Given the description of an element on the screen output the (x, y) to click on. 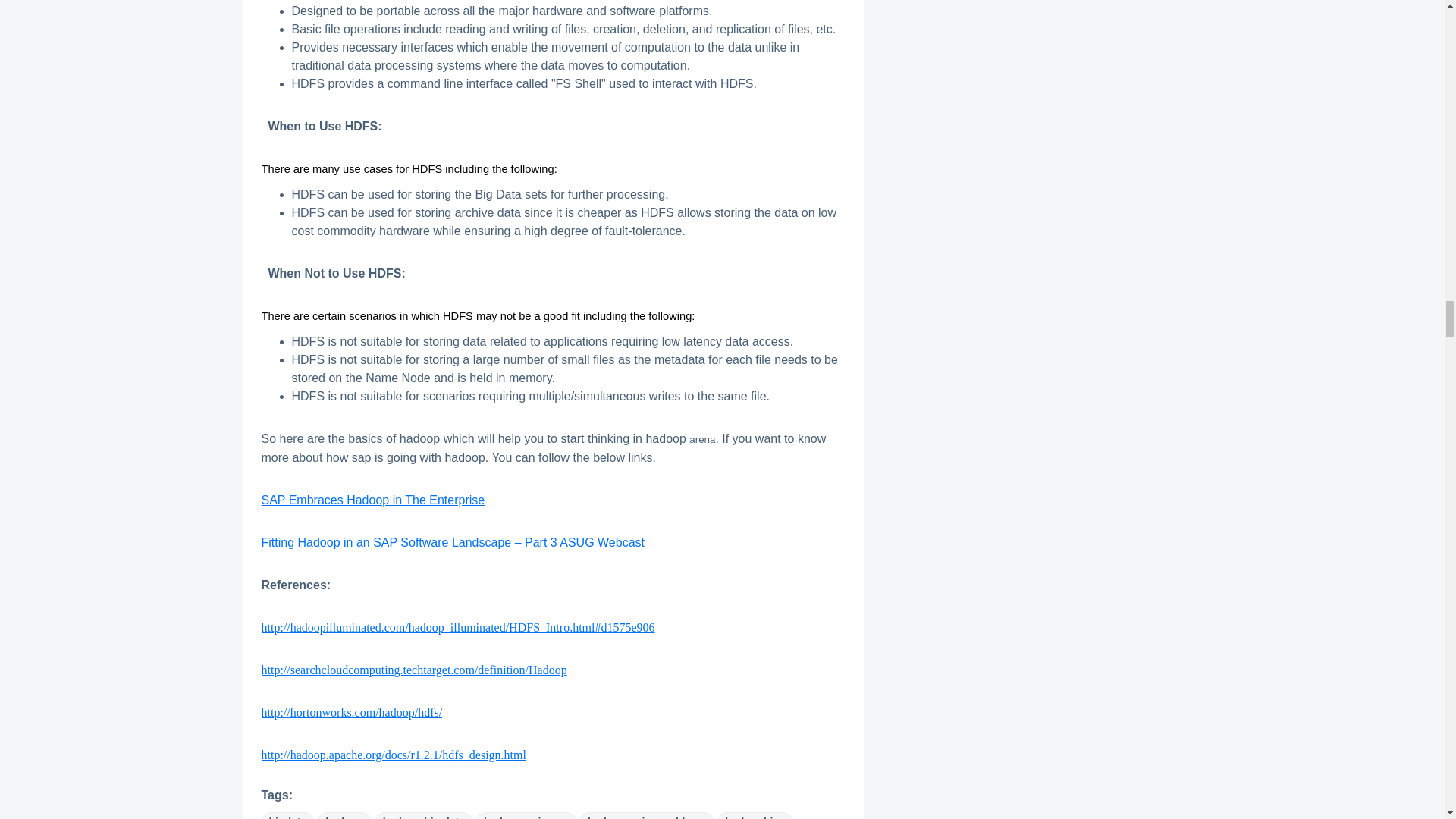
SAP Embraces Hadoop in The Enterprise (372, 499)
hadoop big data (423, 815)
hadoop universe hbase (646, 815)
bigdata (287, 815)
hadoop universe (526, 815)
hadoophive (754, 815)
hadoop (344, 815)
